Given the description of an element on the screen output the (x, y) to click on. 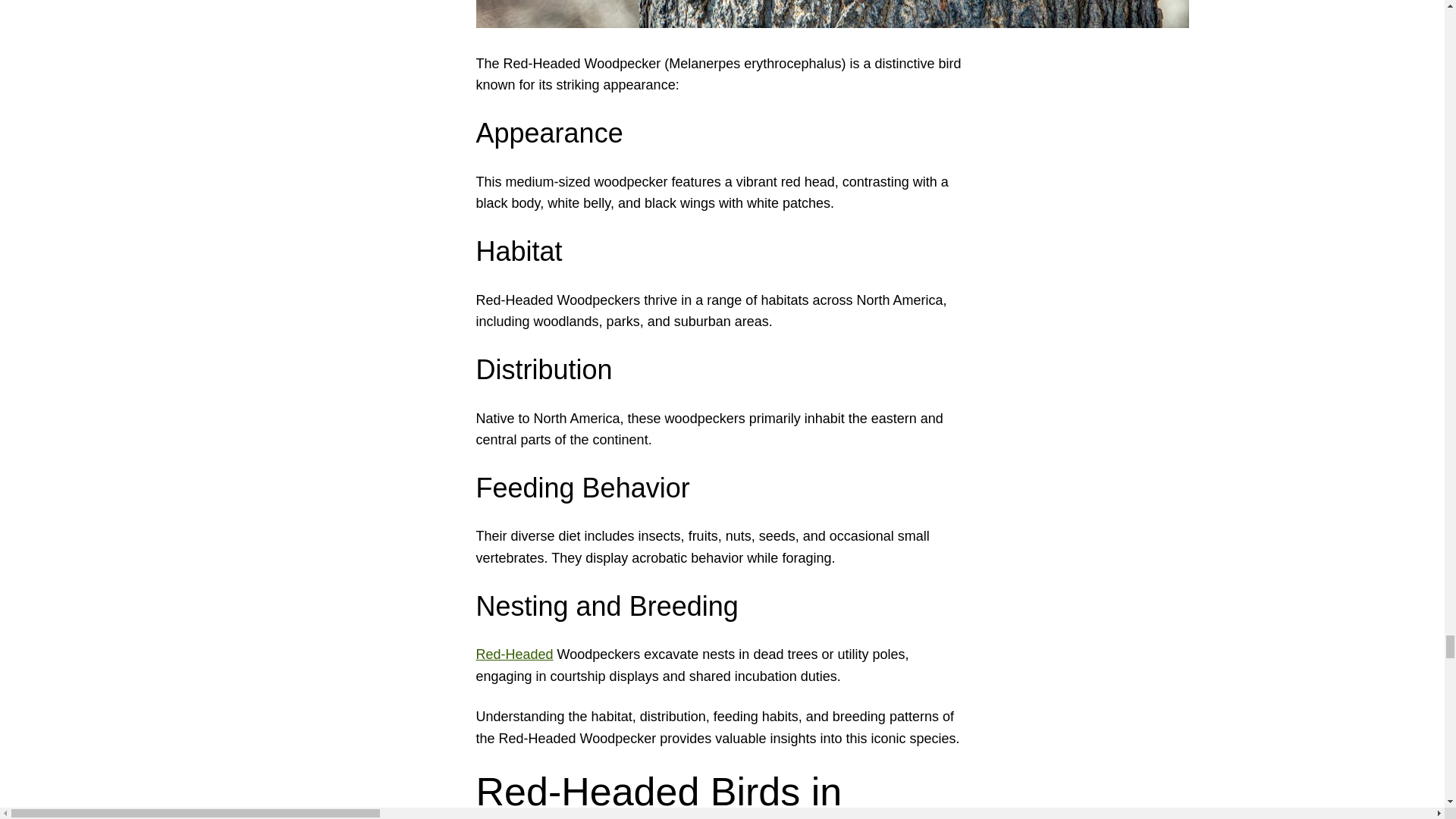
Red-Headed (514, 654)
